Given the description of an element on the screen output the (x, y) to click on. 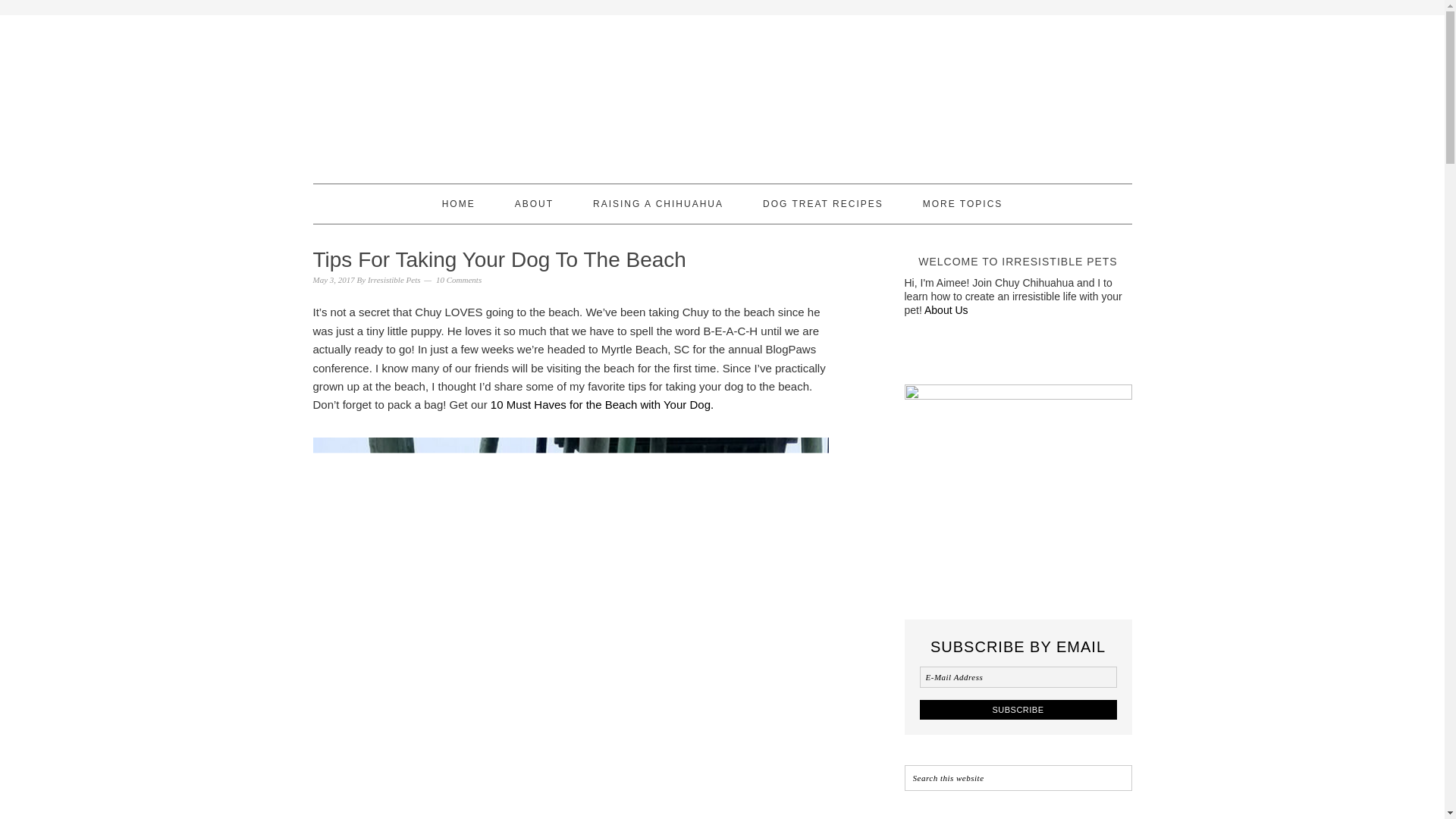
DOG TREAT RECIPES (823, 203)
MORE TOPICS (963, 203)
IRRESISTIBLE PETS (722, 92)
ABOUT (534, 203)
10 Comments (458, 279)
Irresistible Pets (394, 279)
Subscribe (1017, 709)
HOME (459, 203)
About Us (946, 309)
RAISING A CHIHUAHUA (657, 203)
10 Must Haves for the Beach with Your Dog. (601, 404)
